Given the description of an element on the screen output the (x, y) to click on. 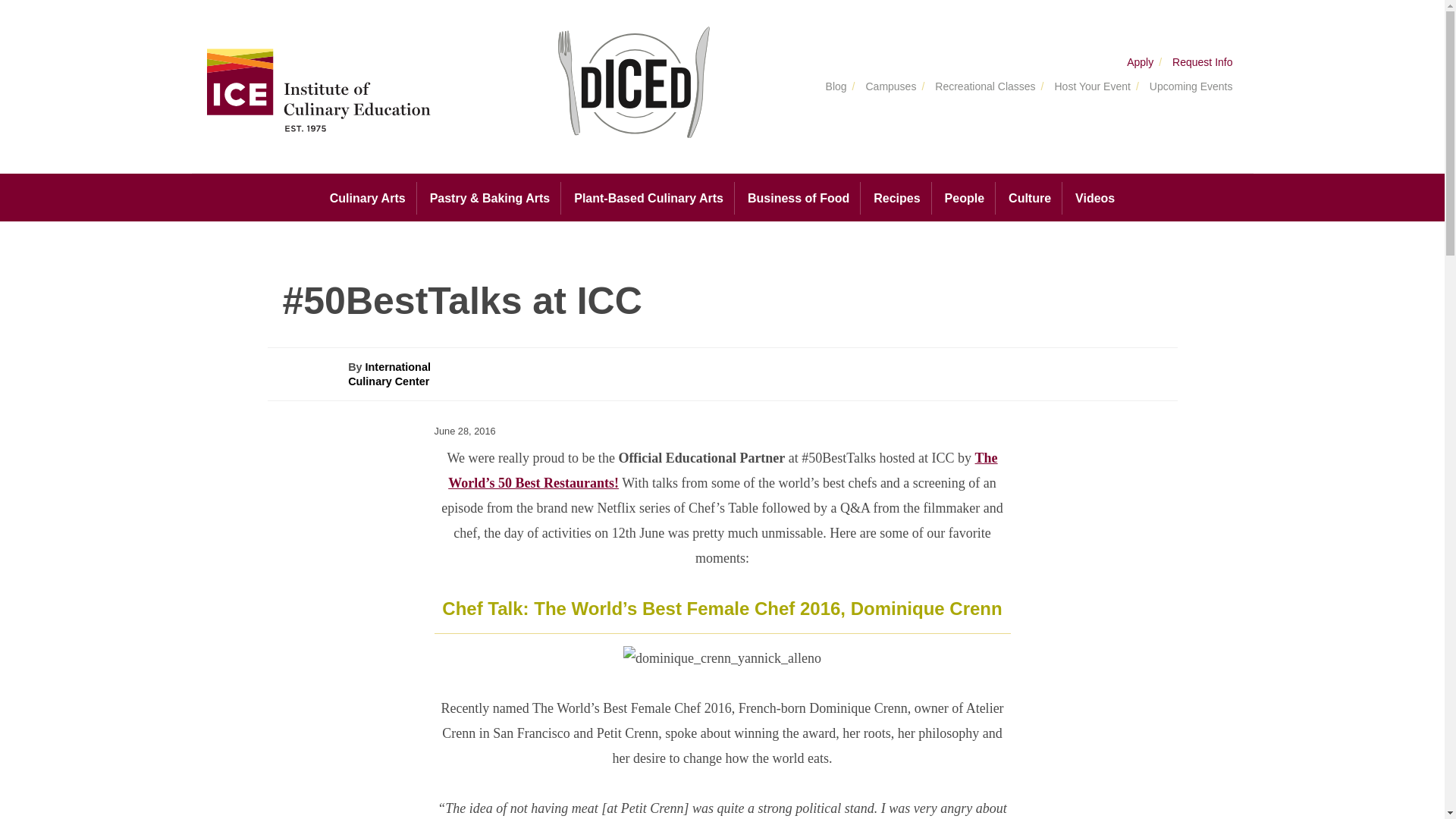
Upcoming Events (1187, 87)
Blog (833, 87)
Recipes (896, 198)
Culinary Arts (367, 197)
Business of Food (798, 198)
International Culinary Center (388, 374)
Campuses (886, 87)
Apply (1137, 62)
Request Info (1197, 62)
